Given the description of an element on the screen output the (x, y) to click on. 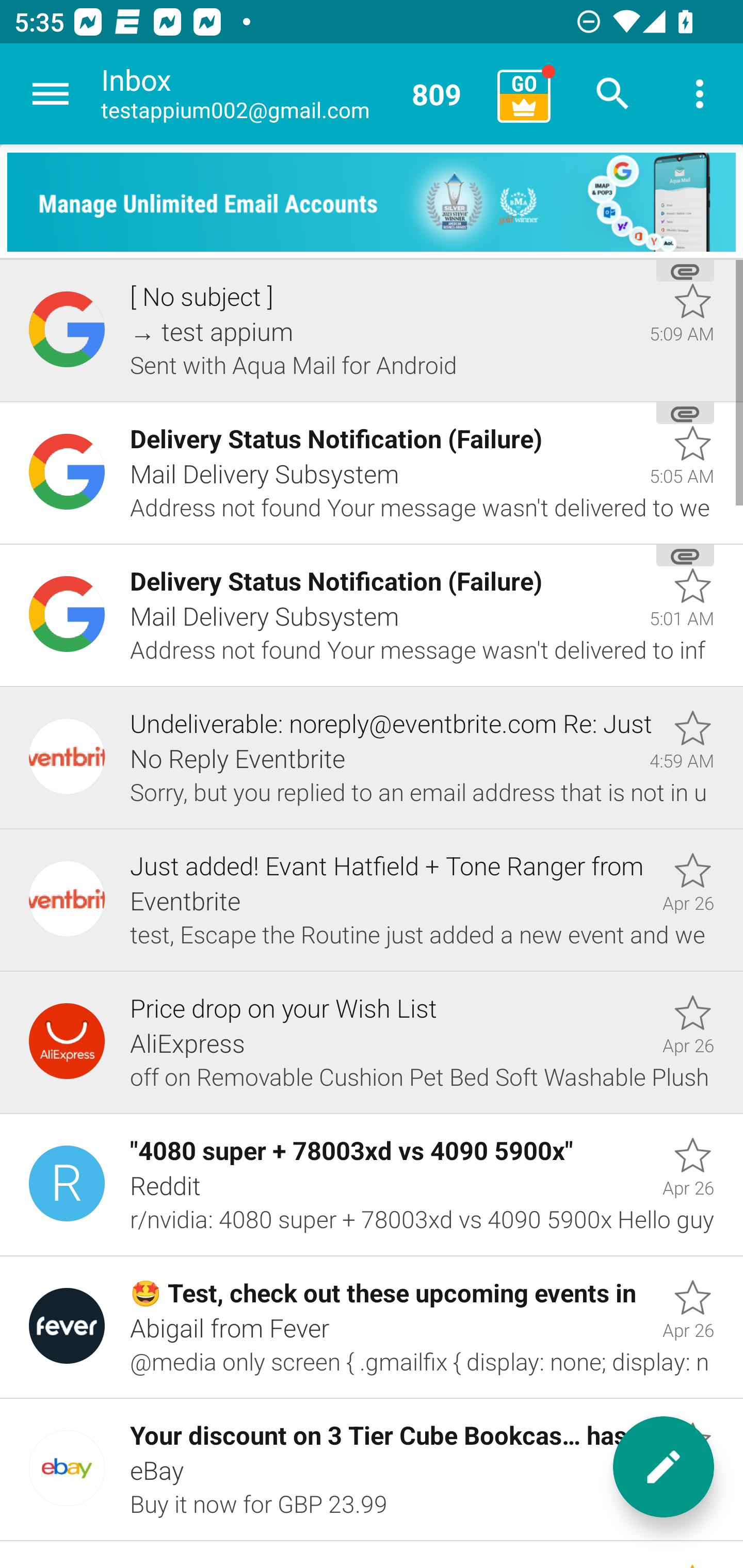
Navigate up (50, 93)
Inbox testappium002@gmail.com 809 (291, 93)
Search (612, 93)
More options (699, 93)
New message (663, 1466)
